Given the description of an element on the screen output the (x, y) to click on. 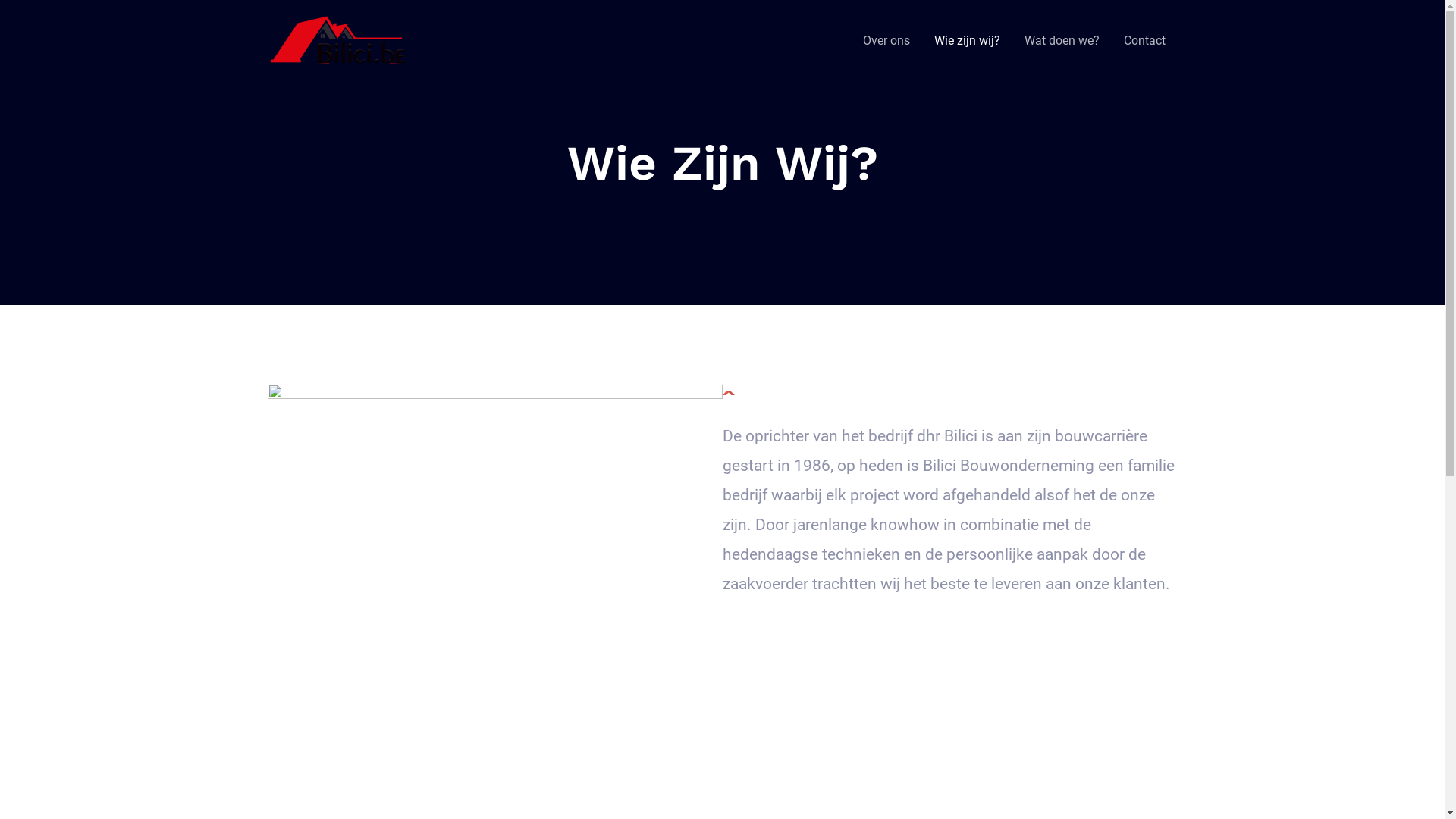
Wie zijn wij? Element type: text (967, 39)
Over ons Element type: text (886, 39)
Contact Element type: text (1144, 39)
Wat doen we? Element type: text (1060, 39)
